Given the description of an element on the screen output the (x, y) to click on. 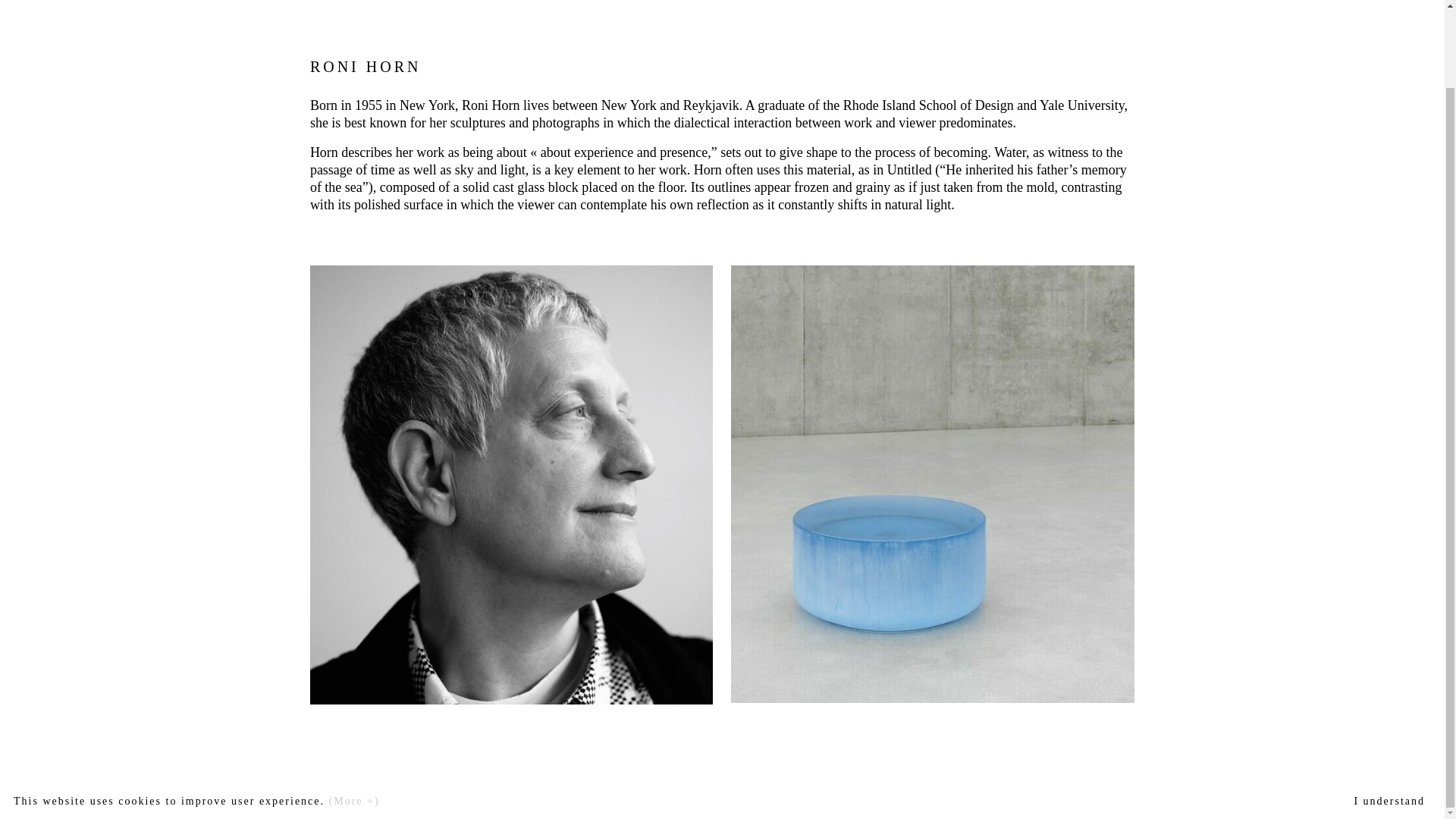
Inside Web (864, 809)
